Given the description of an element on the screen output the (x, y) to click on. 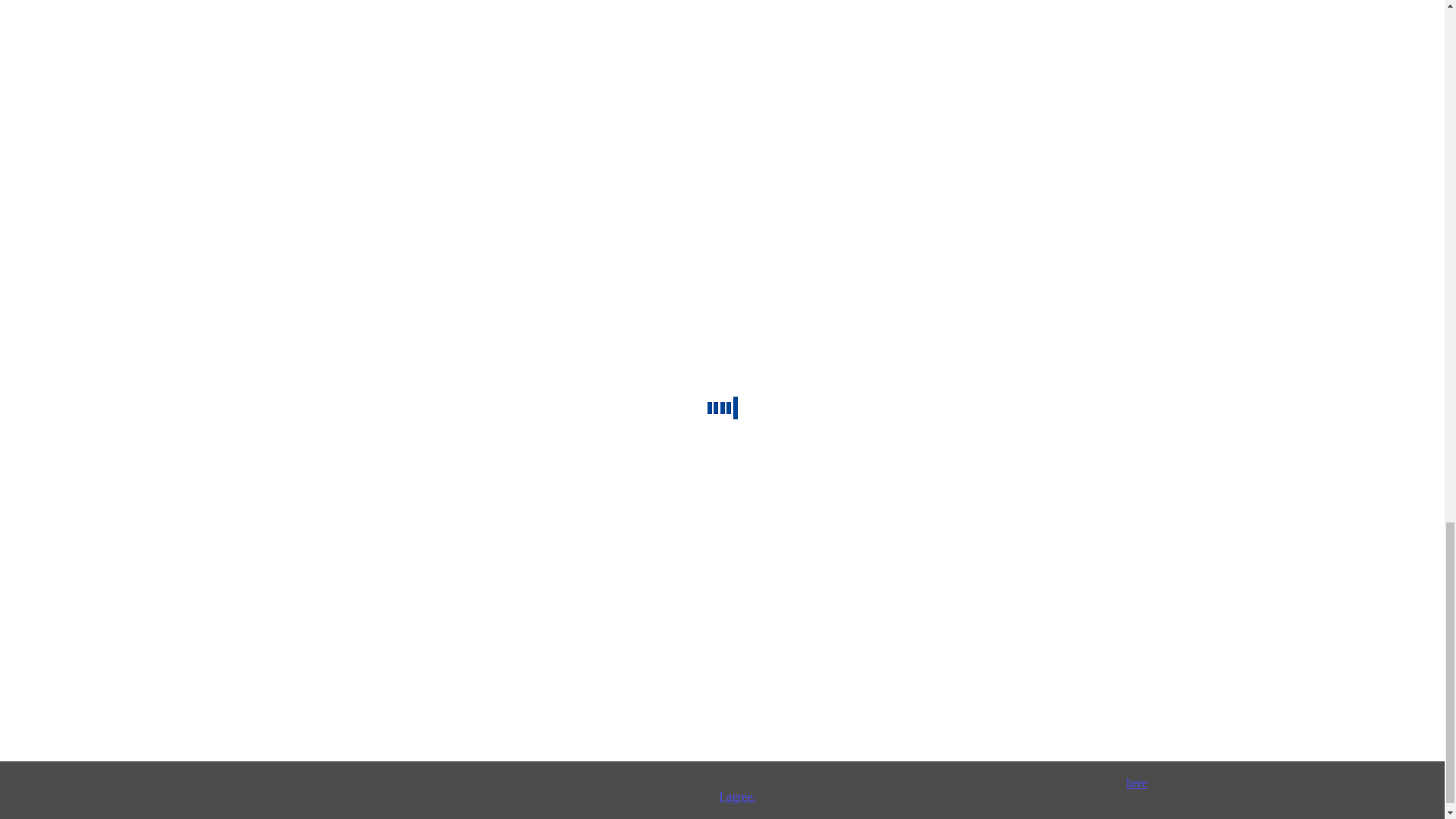
Sailing boats (70, 306)
Catamarans (132, 306)
Itineraries (293, 306)
Motor boats (194, 306)
Pricelist (246, 306)
Home (19, 306)
About us (27, 319)
